Given the description of an element on the screen output the (x, y) to click on. 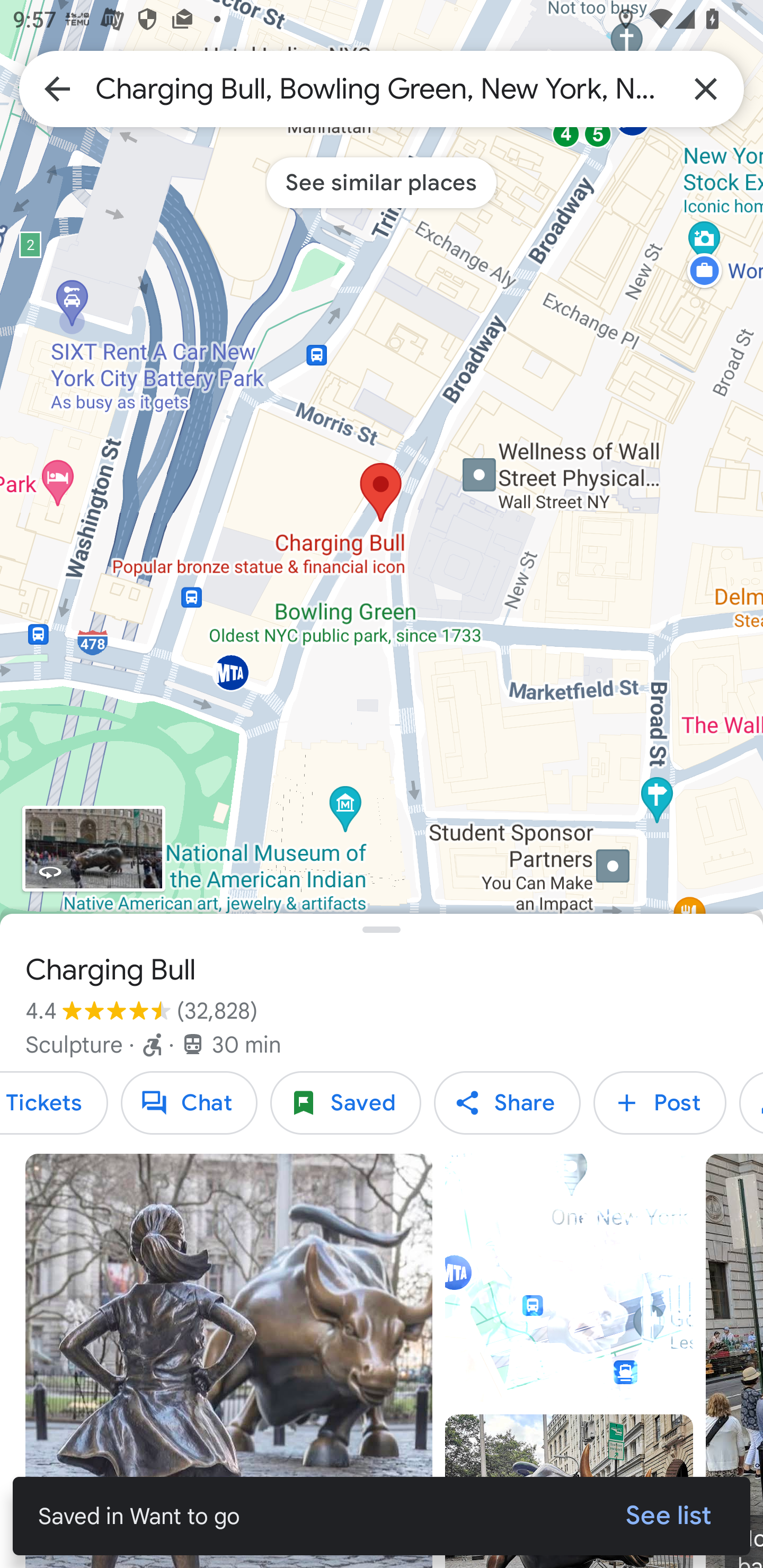
Back (57, 88)
Clear (705, 88)
See similar places (381, 182)
View Street view imagery for Charging Bull (93, 848)
Tickets (54, 1102)
Chat (188, 1102)
Share Charging Bull Share Share Charging Bull (507, 1102)
Post Post Post (659, 1102)
Photo (228, 1361)
Video (568, 1277)
See list (668, 1515)
